Given the description of an element on the screen output the (x, y) to click on. 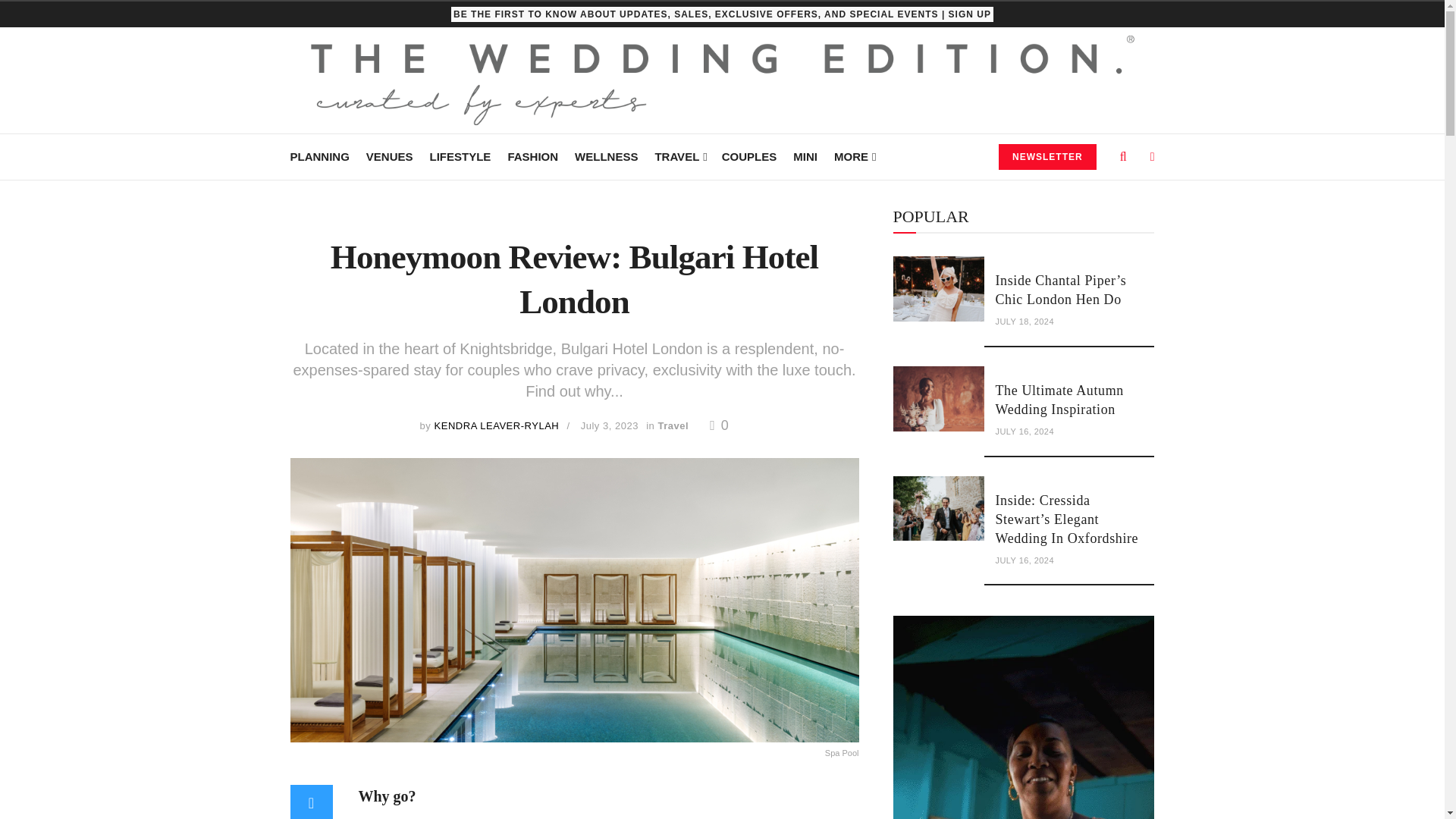
VENUES (389, 156)
MINI (804, 156)
NEWSLETTER (1047, 156)
PLANNING (319, 156)
WELLNESS (606, 156)
LIFESTYLE (460, 156)
MORE (853, 156)
TRAVEL (678, 156)
FASHION (531, 156)
COUPLES (749, 156)
